Given the description of an element on the screen output the (x, y) to click on. 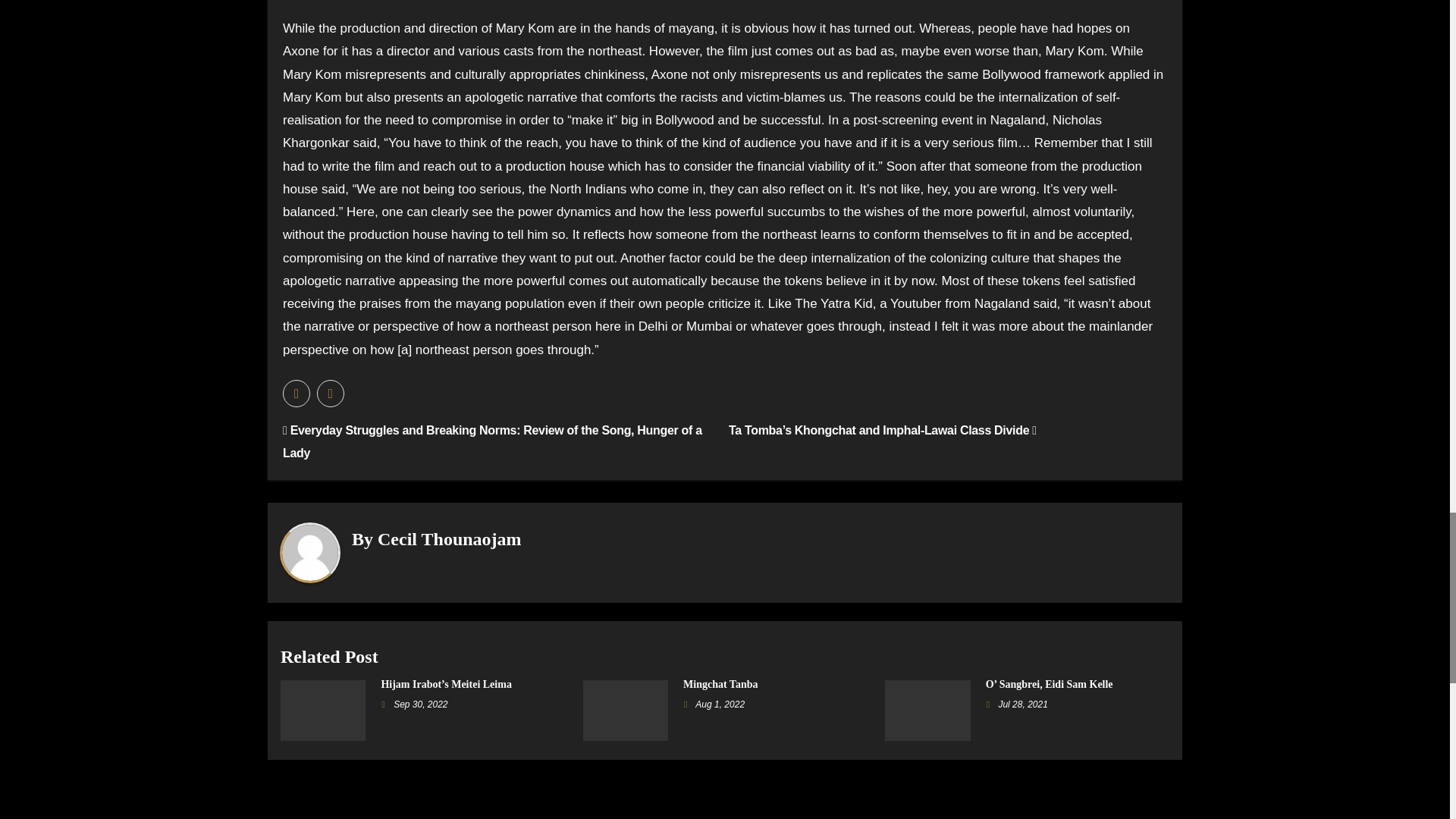
Aug 1, 2022 (719, 704)
Jul 28, 2021 (1021, 704)
Mingchat Tanba (719, 684)
Permalink to: Mingchat Tanba (719, 684)
Cecil Thounaojam (449, 538)
Sep 30, 2022 (419, 704)
